Given the description of an element on the screen output the (x, y) to click on. 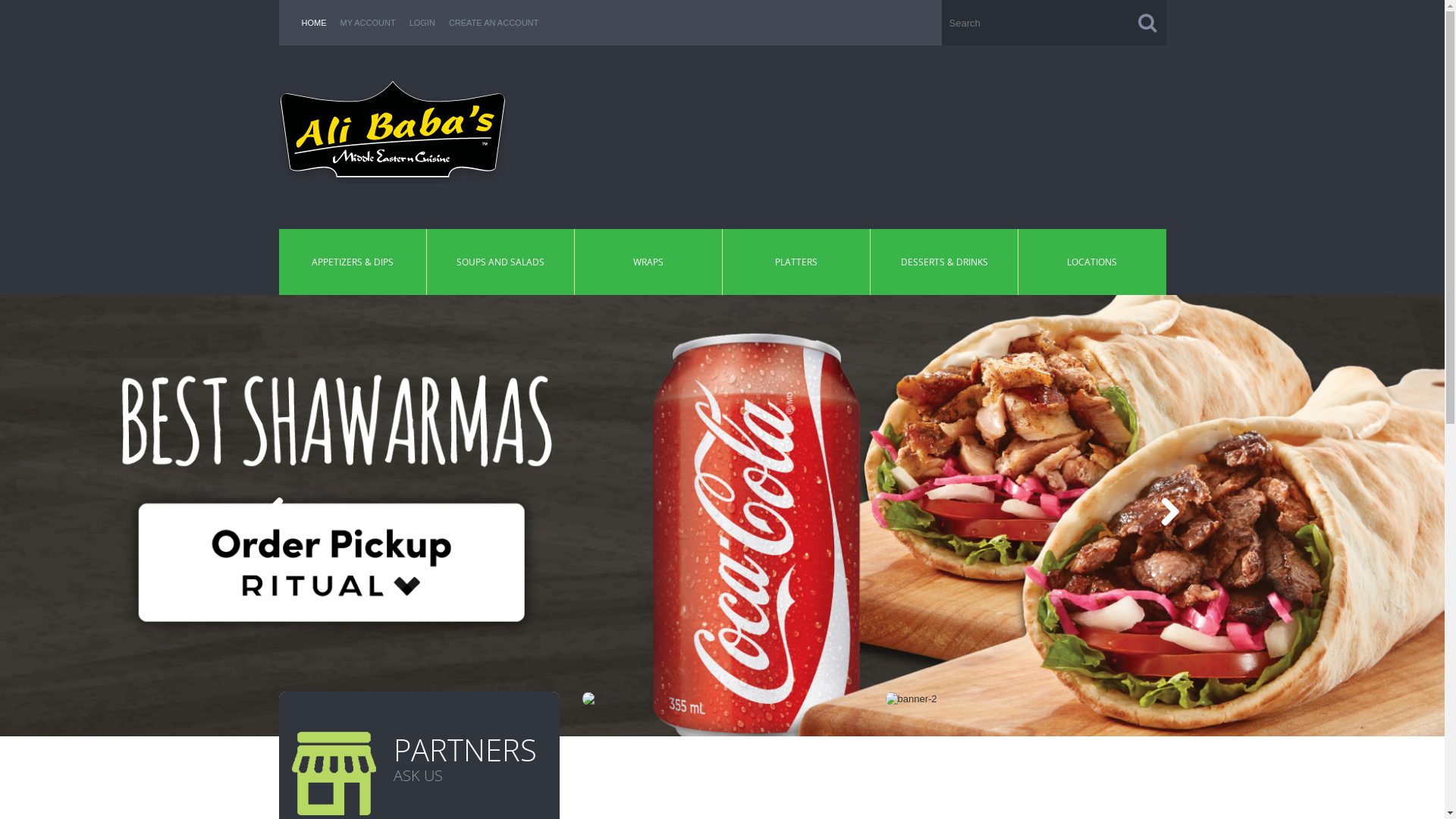
APPETIZERS & DIPS Element type: text (352, 261)
Ali Baba's Element type: hover (392, 132)
DESSERTS & DRINKS Element type: text (944, 261)
MY ACCOUNT Element type: text (367, 22)
banner-2 Element type: hover (911, 699)
SOUPS AND SALADS Element type: text (500, 261)
WRAPS Element type: text (648, 261)
banner-1 Element type: hover (607, 699)
LOCATIONS Element type: text (1091, 261)
PLATTERS Element type: text (796, 261)
CREATE AN ACCOUNT Element type: text (493, 22)
LOGIN Element type: text (422, 22)
HOME Element type: text (313, 22)
